Given the description of an element on the screen output the (x, y) to click on. 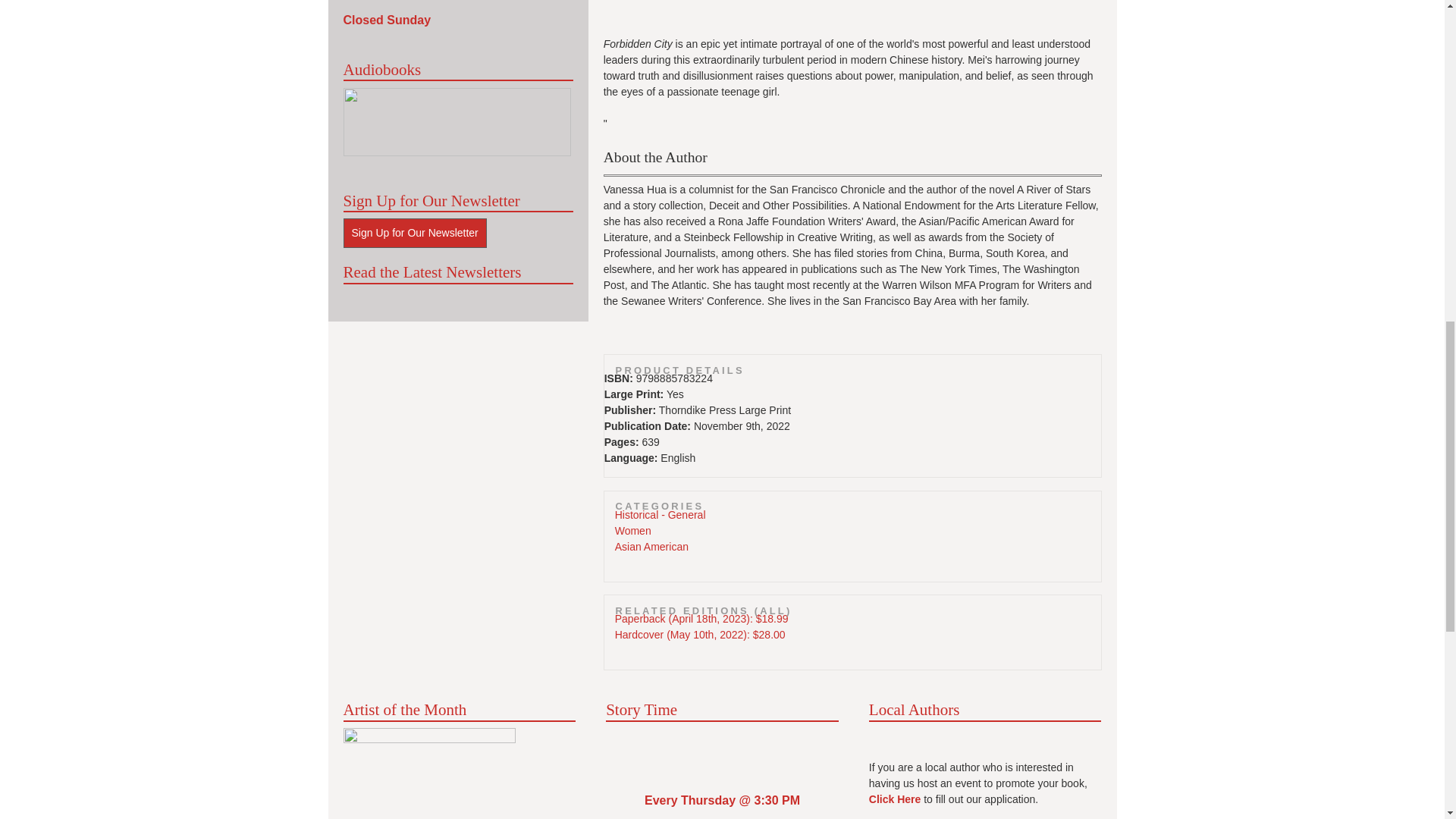
Asian American (651, 546)
Sign Up for Our Newsletter (414, 233)
Women (632, 530)
Click Here (894, 799)
Historical - General (660, 514)
